Given the description of an element on the screen output the (x, y) to click on. 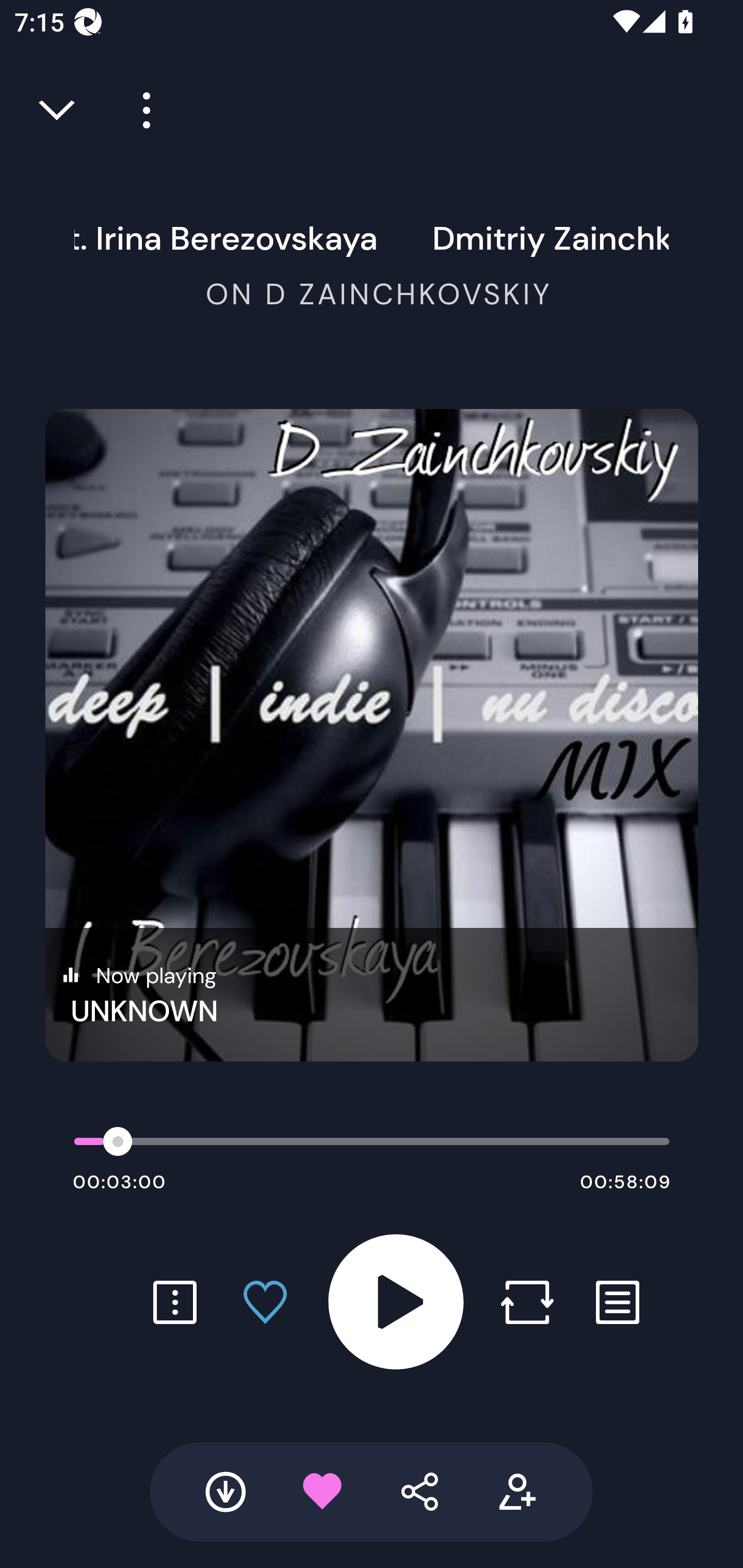
Close full player (58, 110)
Player more options button (139, 110)
Repost button (527, 1301)
